Given the description of an element on the screen output the (x, y) to click on. 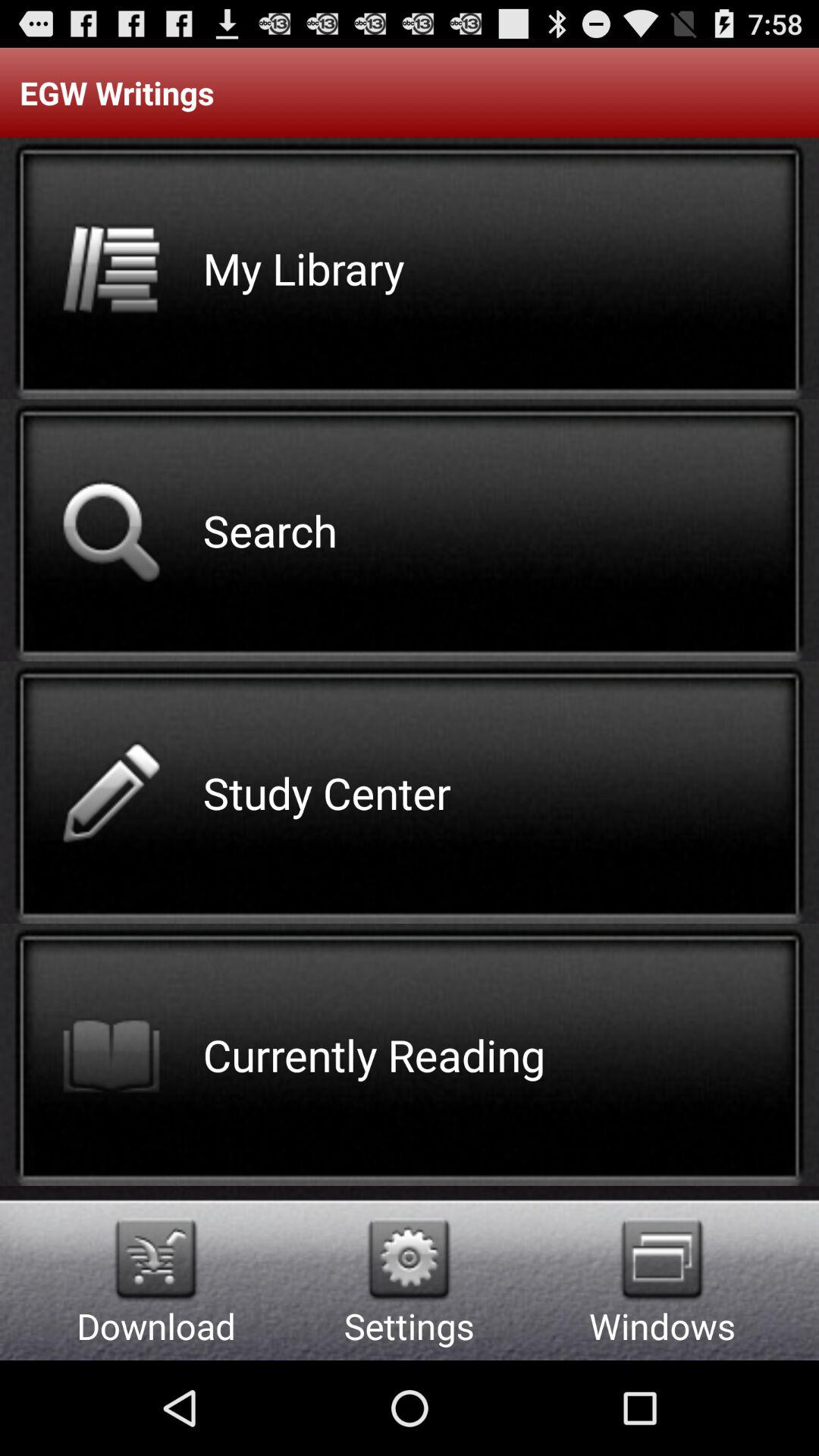
click icon next to the settings app (156, 1258)
